Given the description of an element on the screen output the (x, y) to click on. 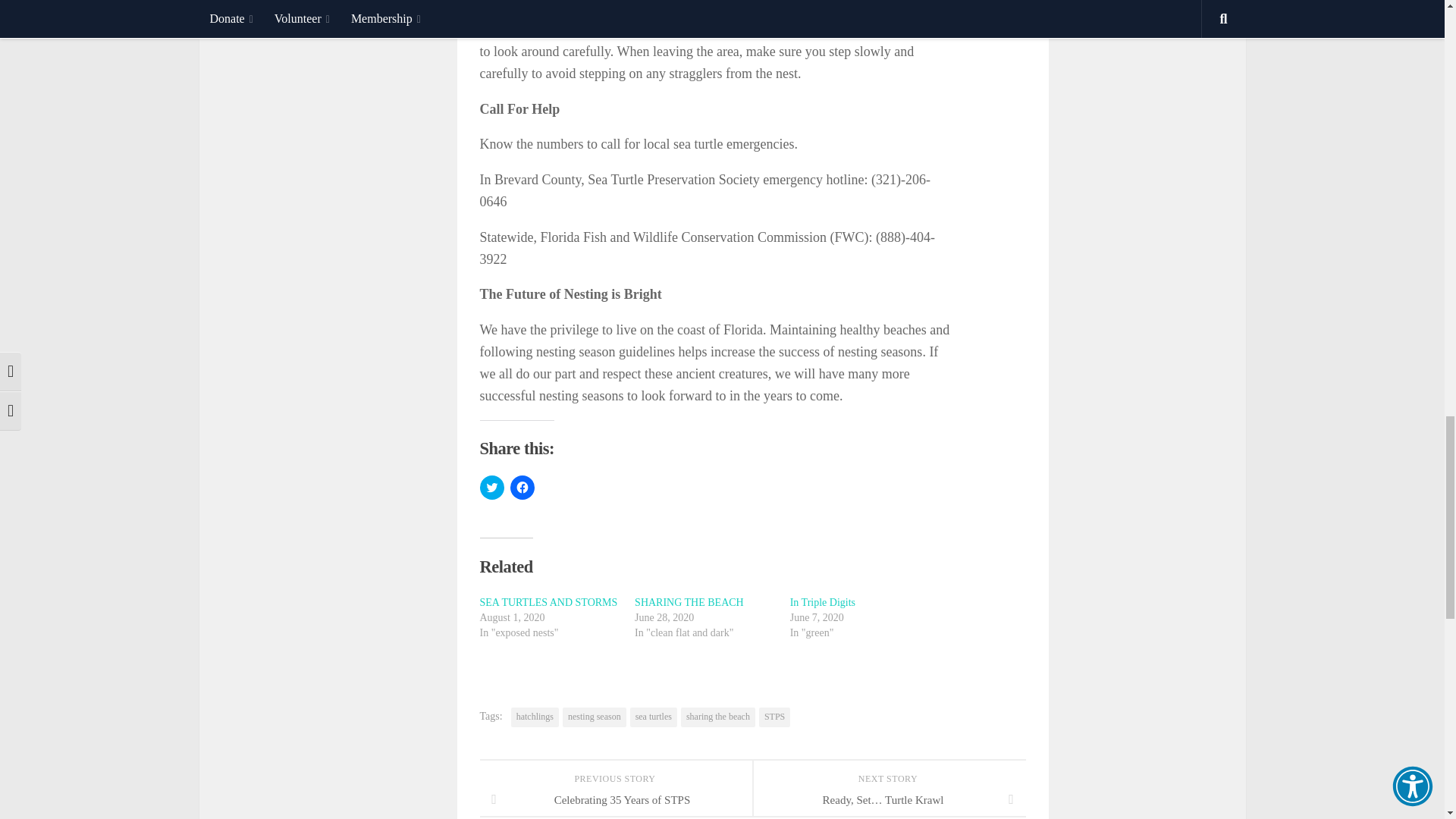
SEA TURTLES AND STORMS (548, 602)
SHARING THE BEACH (689, 602)
In Triple Digits (823, 602)
